Given the description of an element on the screen output the (x, y) to click on. 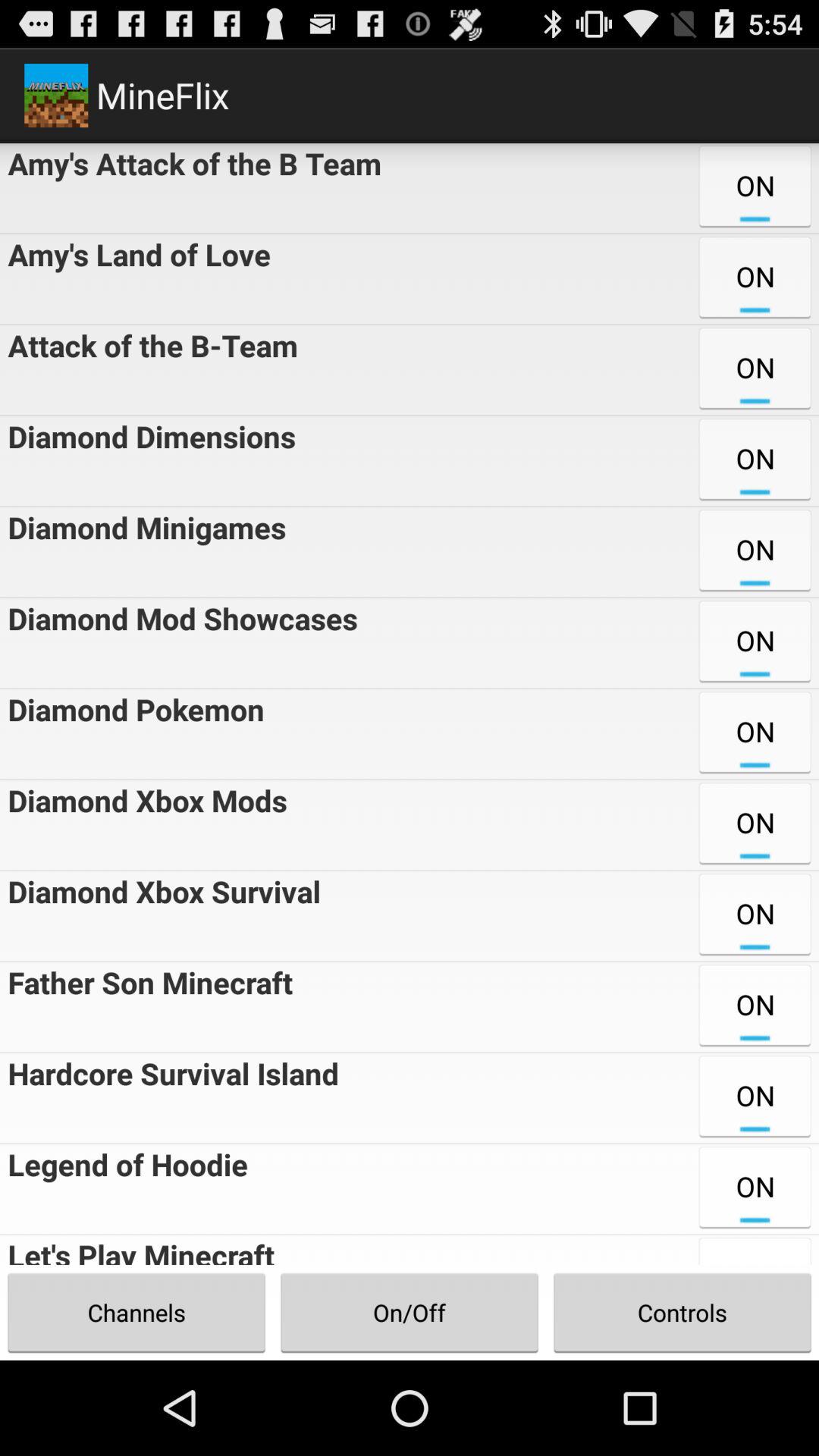
turn on the item next to the let s play app (409, 1312)
